Given the description of an element on the screen output the (x, y) to click on. 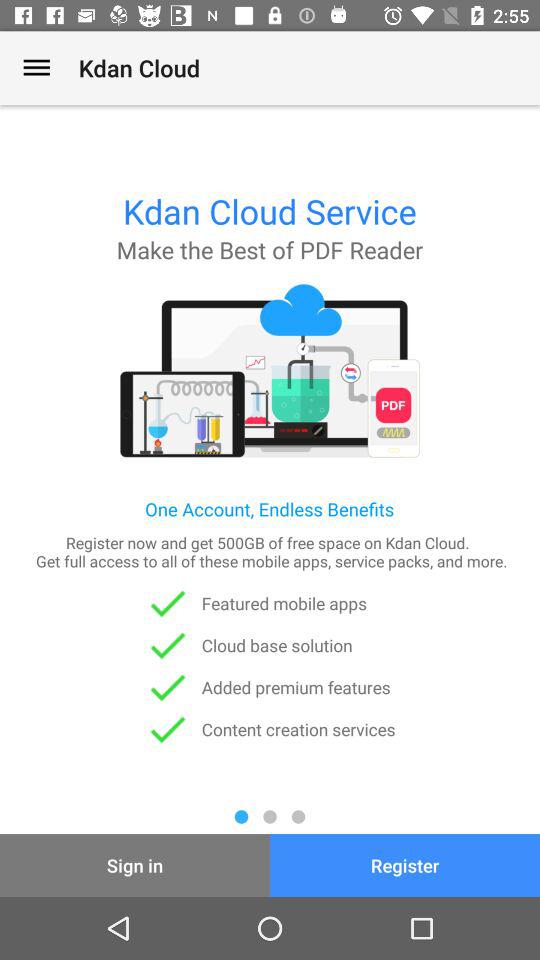
choose the app to the left of the kdan cloud item (36, 68)
